Given the description of an element on the screen output the (x, y) to click on. 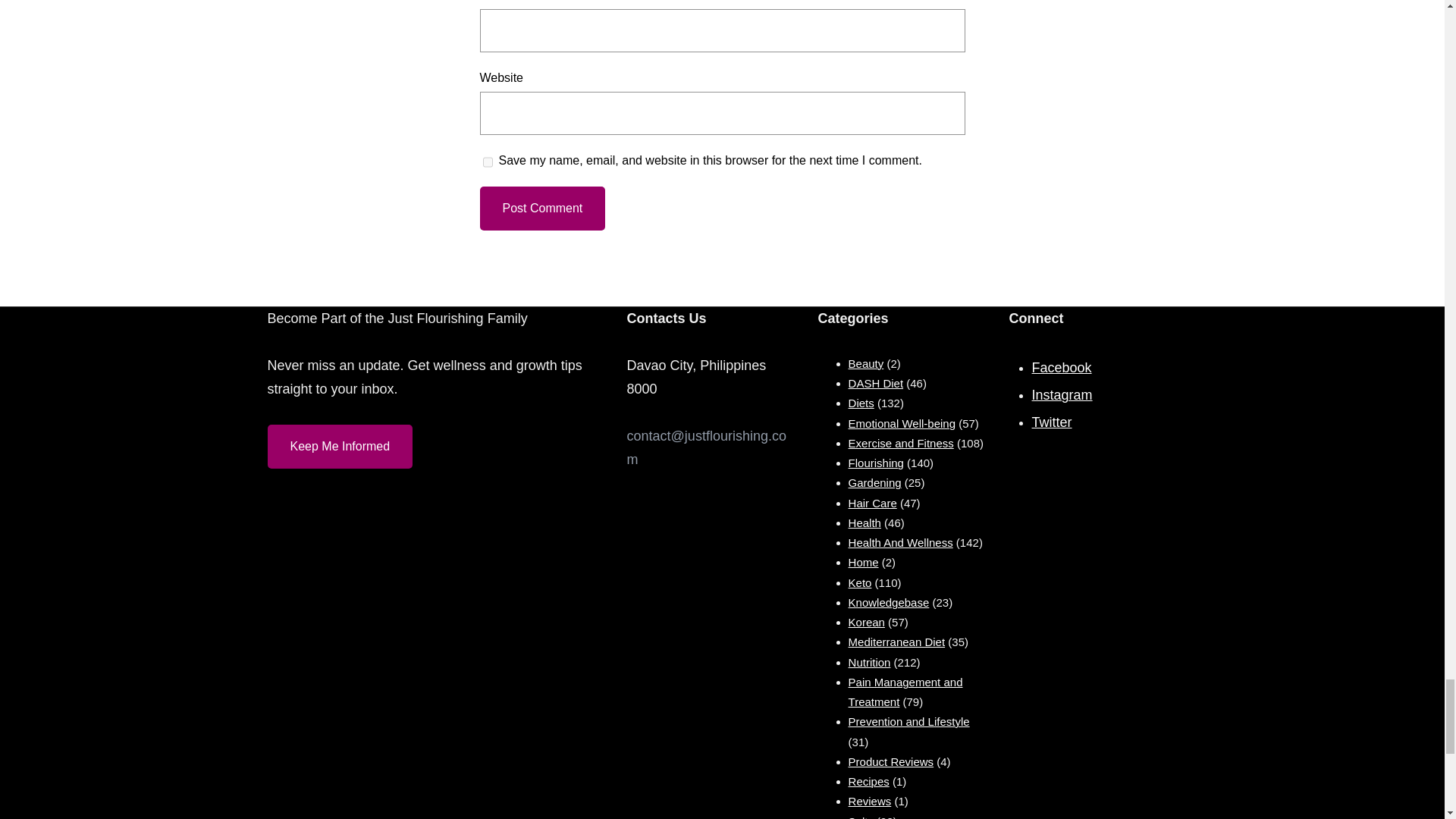
Product Reviews (891, 761)
Exercise and Fitness (900, 442)
Beauty (865, 363)
Diets (861, 402)
Home (863, 562)
Korean (866, 621)
Recipes (868, 780)
Mediterranean Diet (896, 641)
Pain Management and Treatment (905, 691)
Keto (860, 582)
Knowledgebase (889, 602)
Keep Me Informed (339, 446)
Prevention and Lifestyle (908, 721)
Post Comment (542, 208)
Hair Care (872, 502)
